Given the description of an element on the screen output the (x, y) to click on. 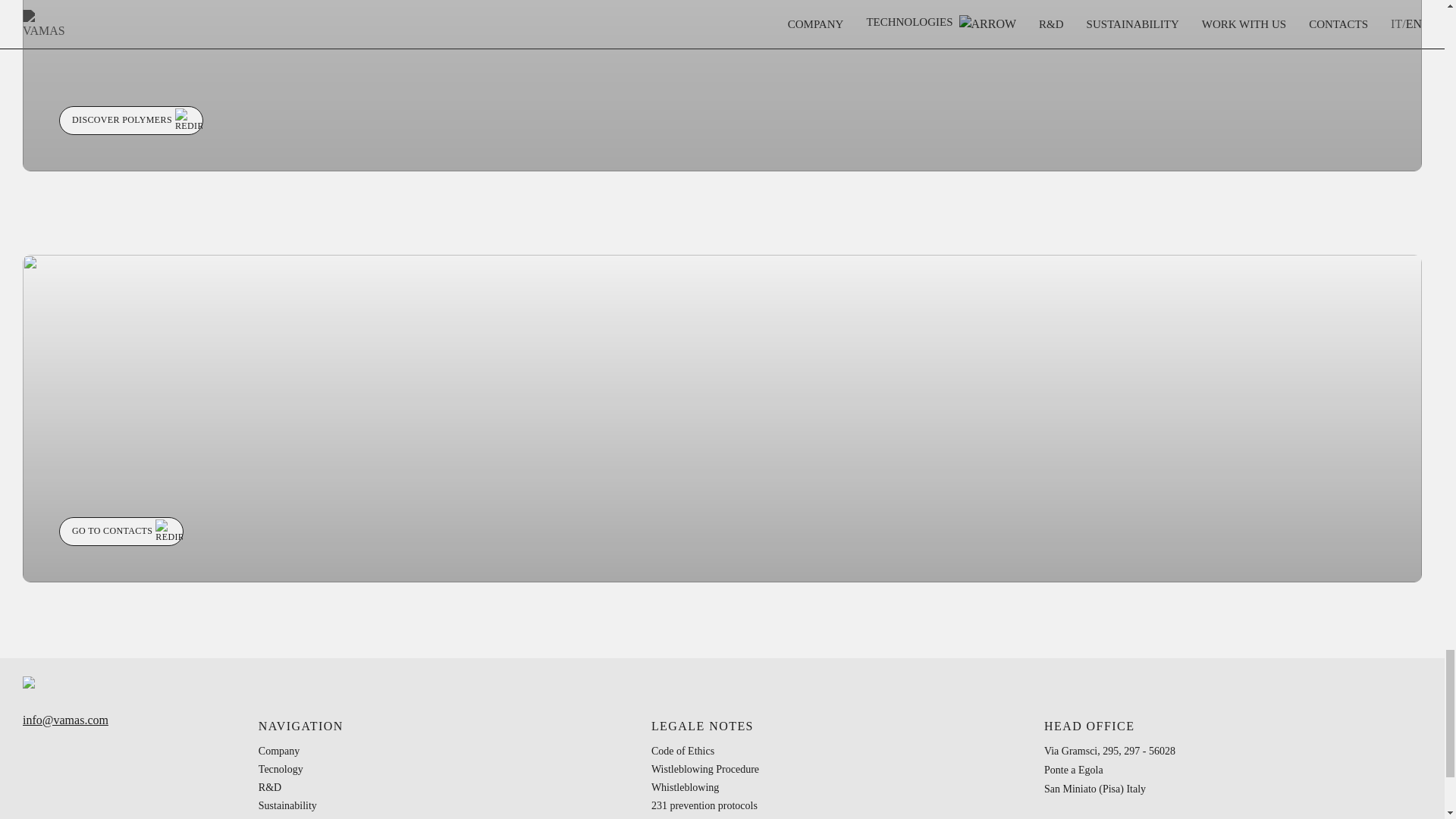
DISCOVER POLYMERS (131, 120)
Whistleblowing (684, 787)
Work with us (287, 816)
231 prevention protocols (703, 805)
Wistleblowing Procedure (704, 769)
Sustainability (288, 805)
231 Model (673, 816)
GO TO CONTACTS (121, 531)
Company (279, 751)
Code of Ethics (682, 751)
